Given the description of an element on the screen output the (x, y) to click on. 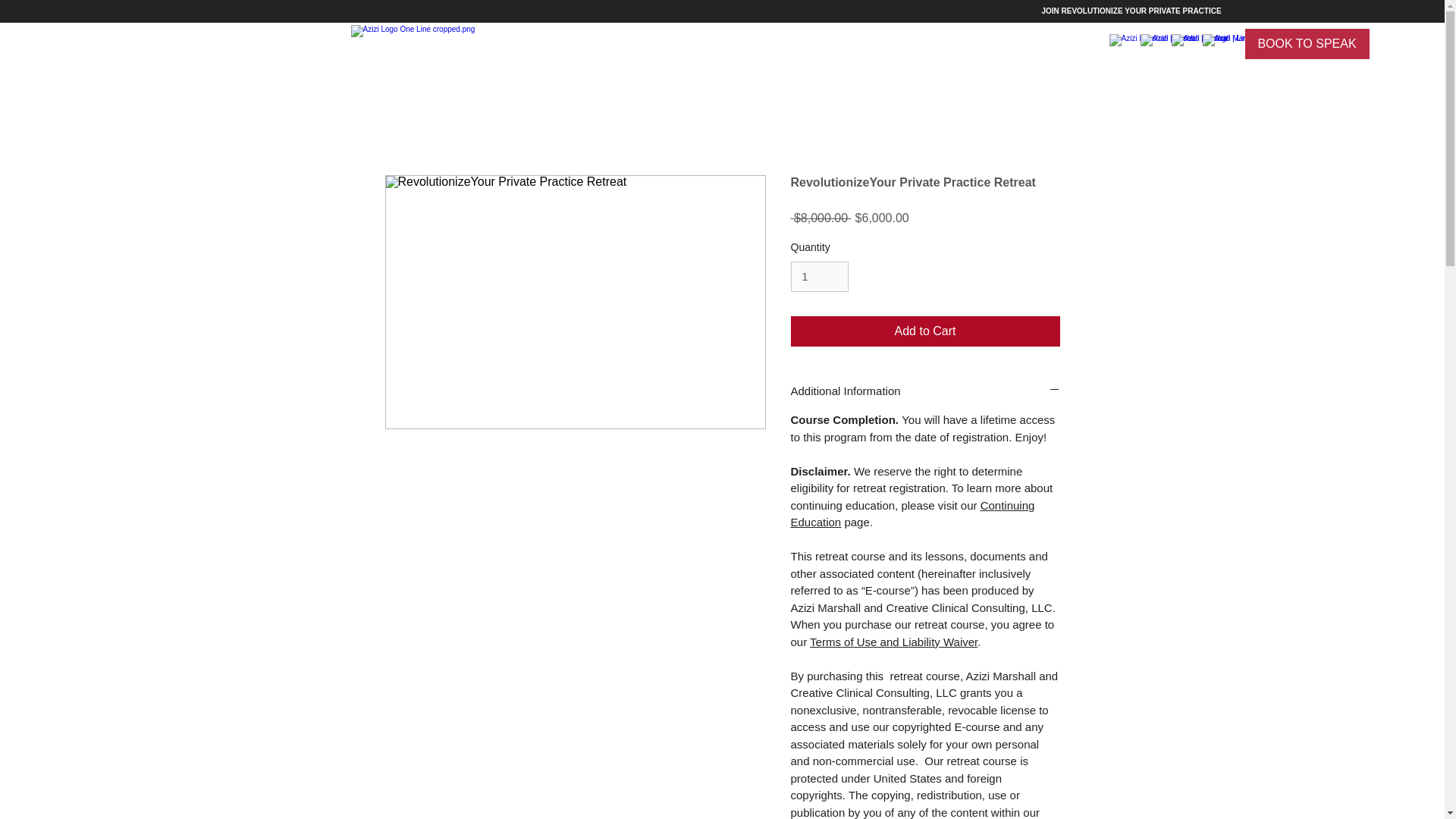
JOIN REVOLUTIONIZE YOUR PRIVATE PRACTICE (1130, 10)
1 (818, 276)
Continuing Education (911, 513)
Add to Cart (924, 331)
BOOK TO SPEAK (1307, 43)
Terms of Use and Liability Waiver (892, 641)
Additional Information (924, 390)
